Given the description of an element on the screen output the (x, y) to click on. 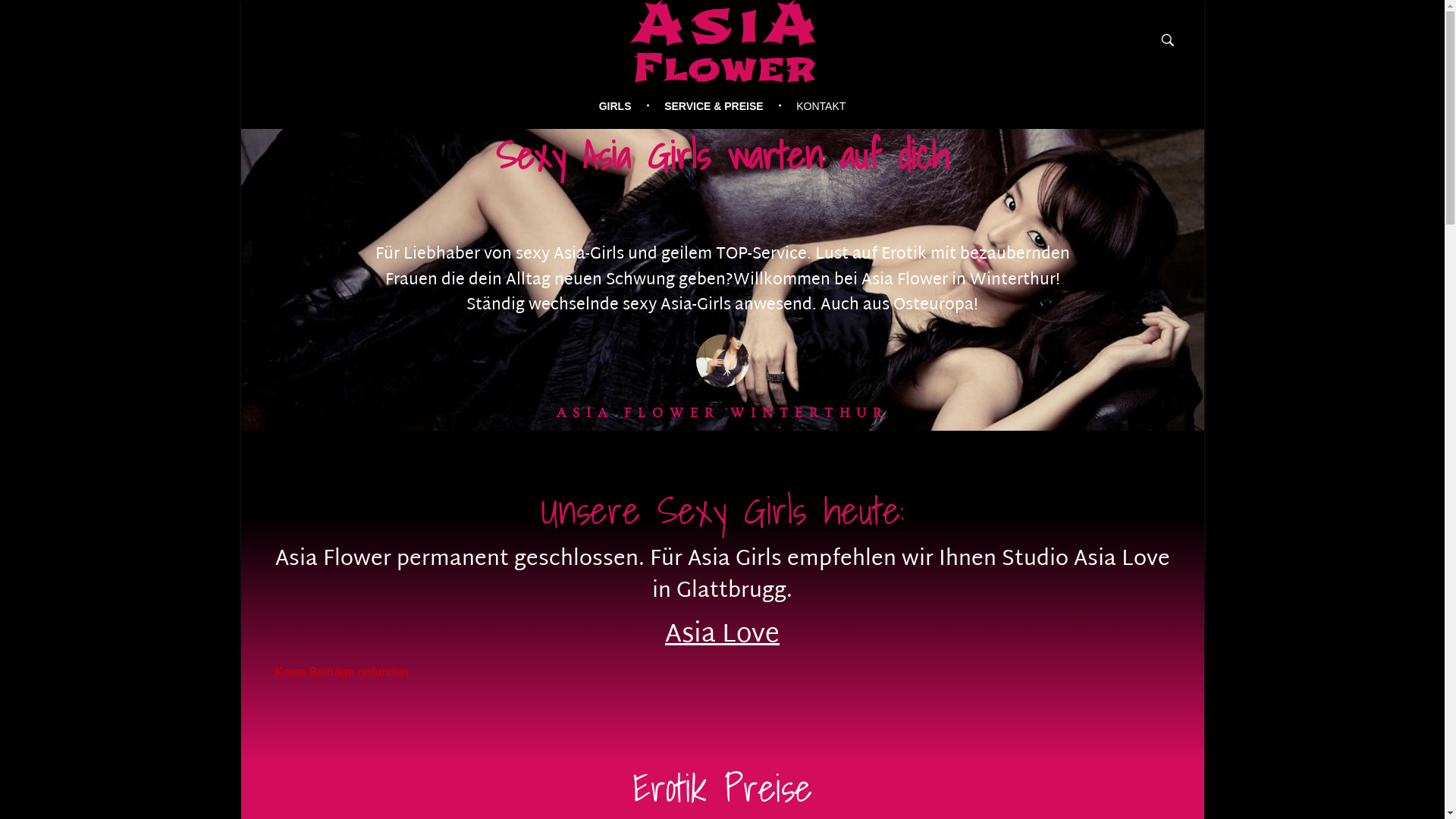
GIRLS Element type: text (624, 105)
SERVICE & PREISE Element type: text (716, 105)
Asia Love Element type: text (722, 634)
KONTAKT Element type: text (813, 105)
